Given the description of an element on the screen output the (x, y) to click on. 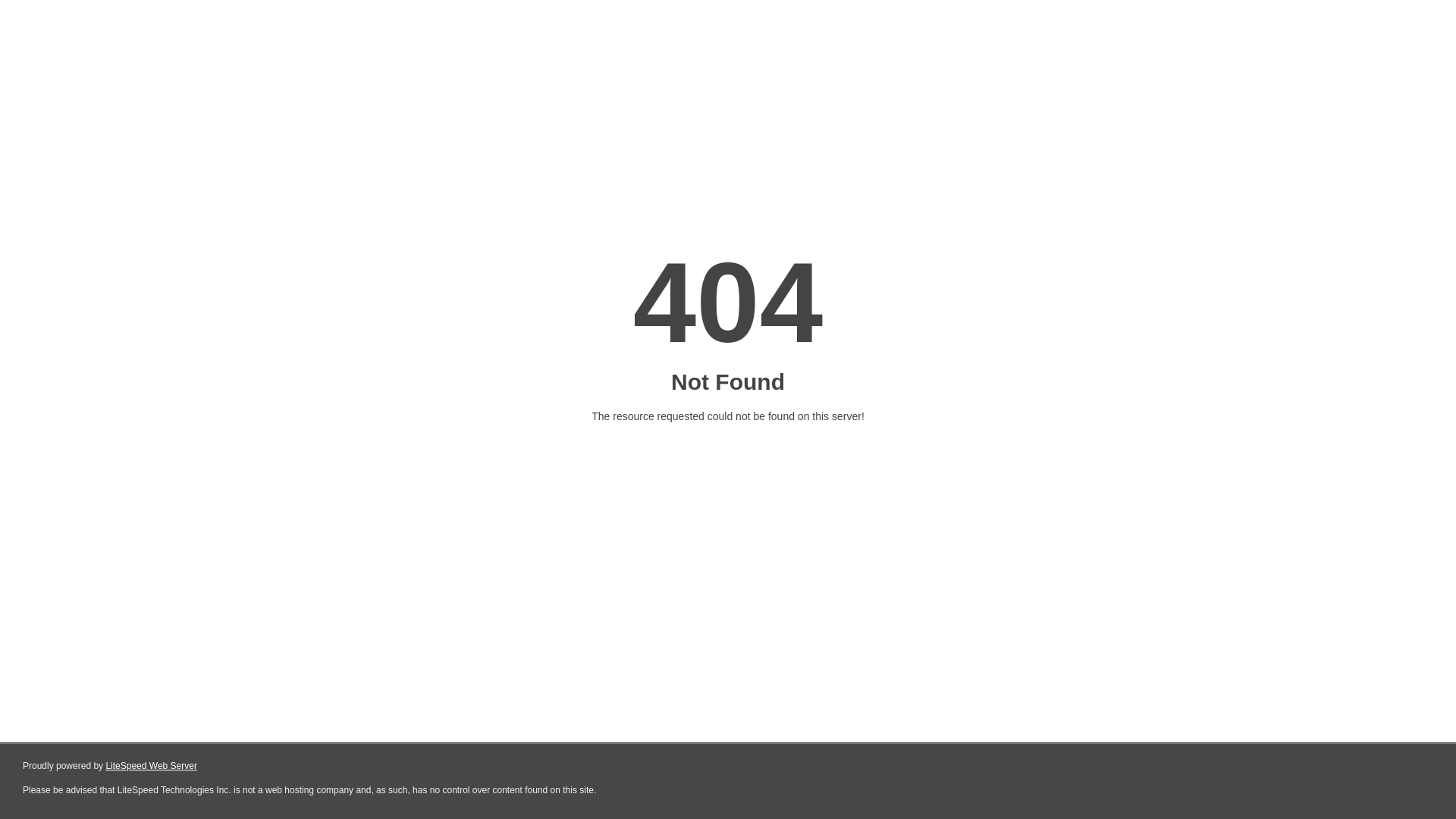
LiteSpeed Web Server Element type: text (151, 765)
